Given the description of an element on the screen output the (x, y) to click on. 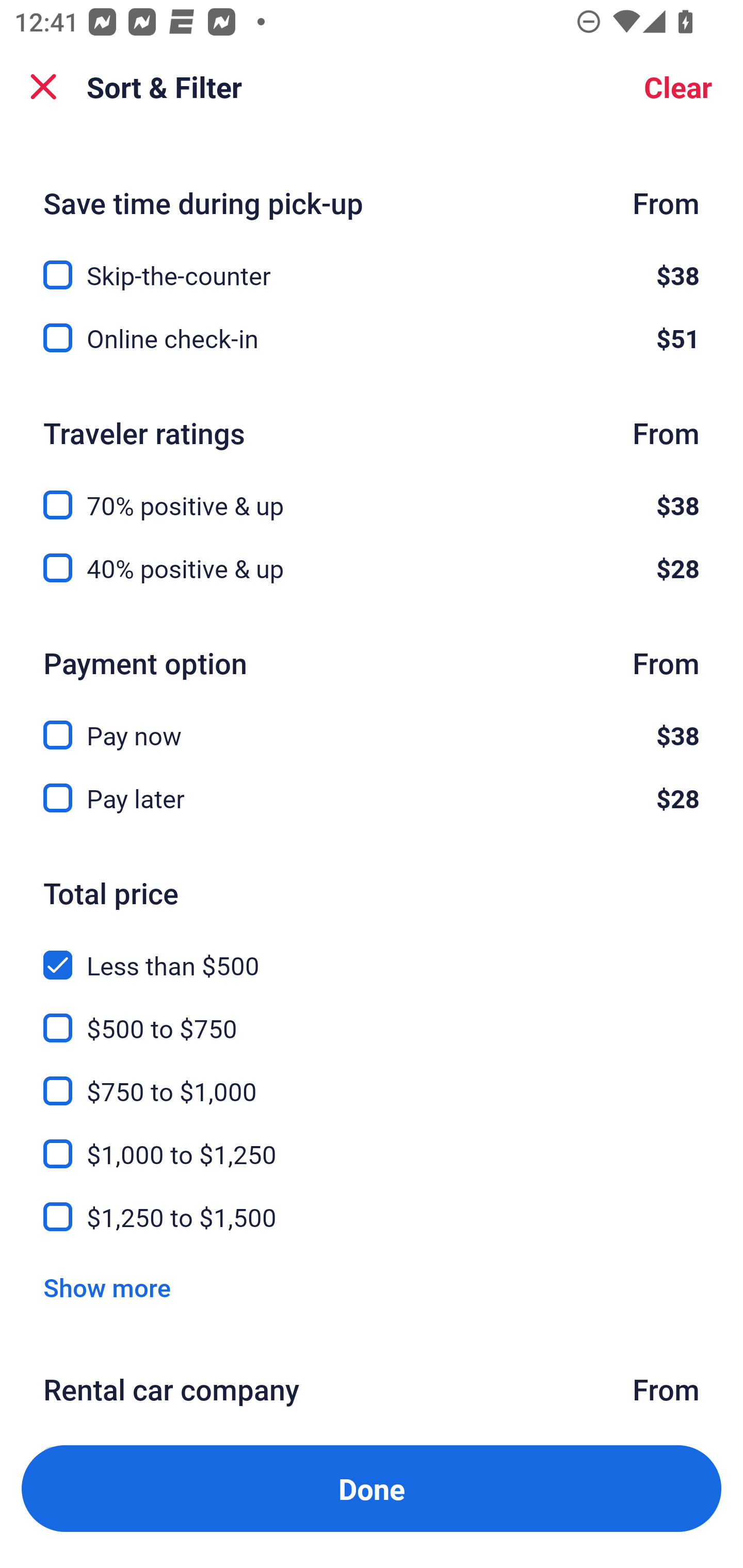
Close Sort and Filter (43, 86)
Clear (677, 86)
Skip-the-counter, $38 Skip-the-counter $38 (371, 263)
Online check-in, $51 Online check-in $51 (371, 337)
70% positive & up, $38 70% positive & up $38 (371, 493)
40% positive & up, $28 40% positive & up $28 (371, 568)
Pay now, $38 Pay now $38 (371, 723)
Pay later, $28 Pay later $28 (371, 798)
Less than $500, Less than $500 (371, 952)
$500 to $750, $500 to $750 (371, 1015)
$750 to $1,000, $750 to $1,000 (371, 1079)
$1,000 to $1,250, $1,000 to $1,250 (371, 1142)
$1,250 to $1,500, $1,250 to $1,500 (371, 1217)
Show more Show more Link (106, 1287)
Apply and close Sort and Filter Done (371, 1488)
